Given the description of an element on the screen output the (x, y) to click on. 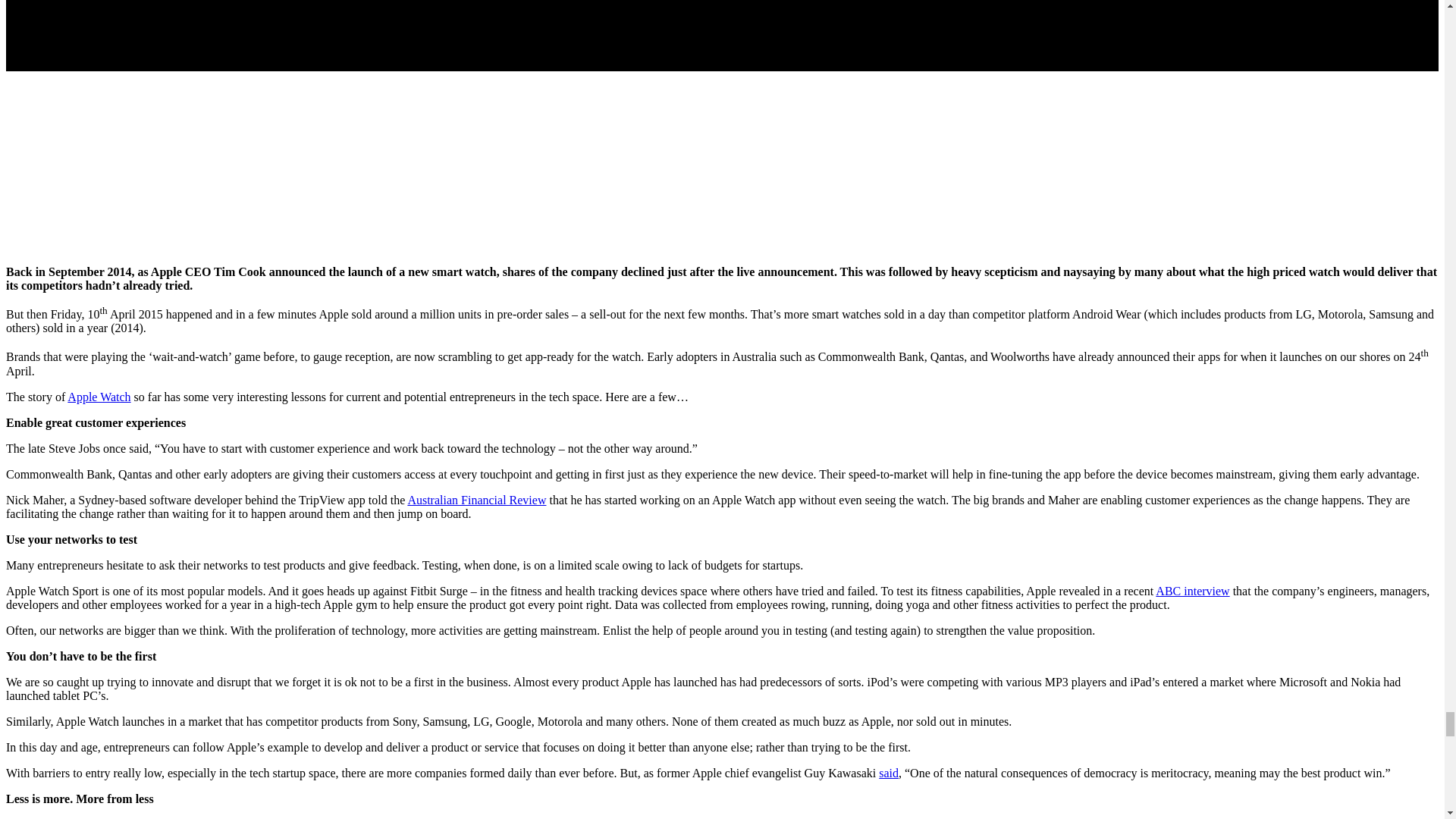
said (888, 772)
Apple Watch (98, 396)
ABC interview (1192, 590)
Australian Financial Review (476, 499)
